Given the description of an element on the screen output the (x, y) to click on. 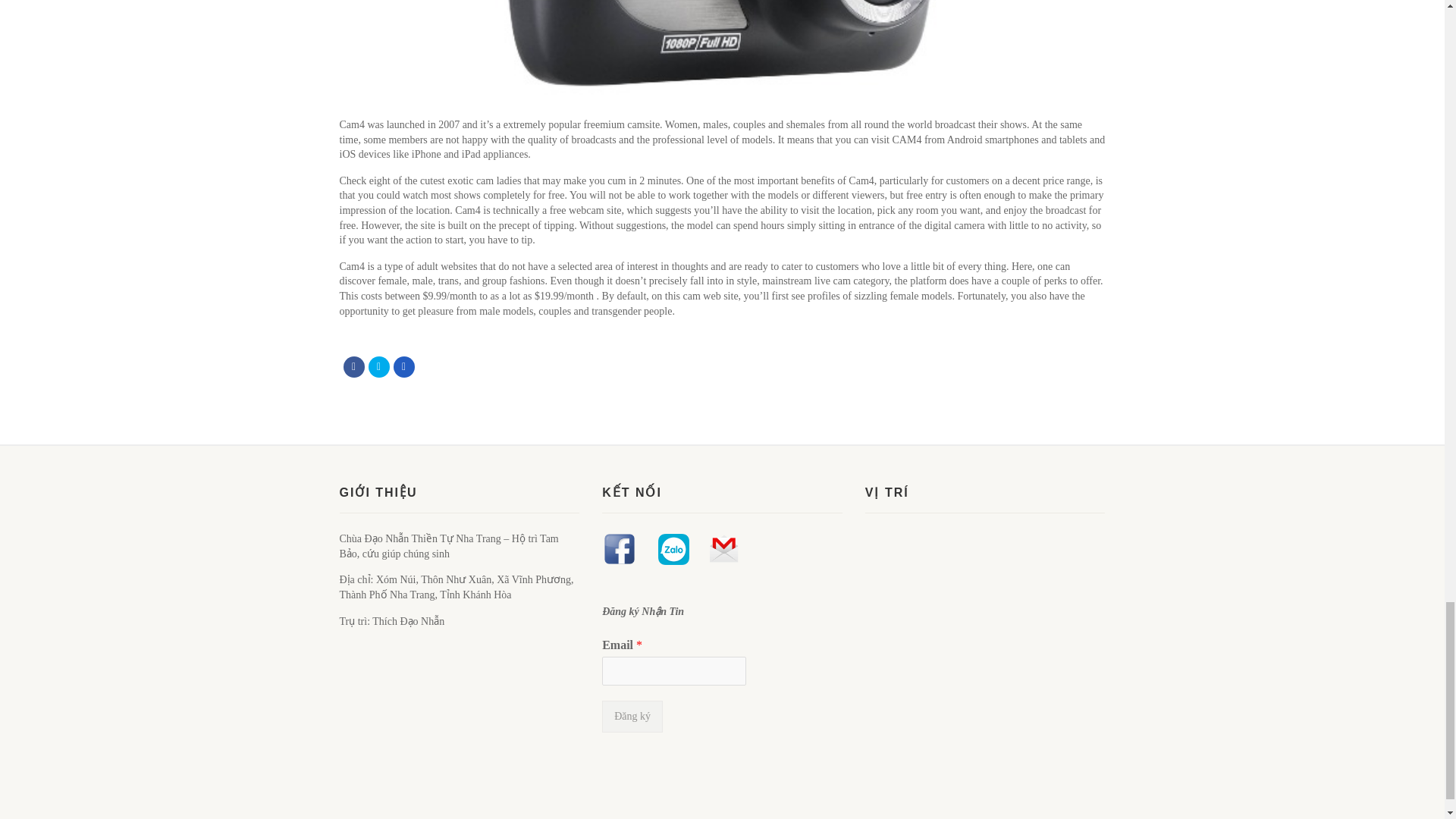
Tweet (379, 366)
Share on Facebook (353, 366)
